Given the description of an element on the screen output the (x, y) to click on. 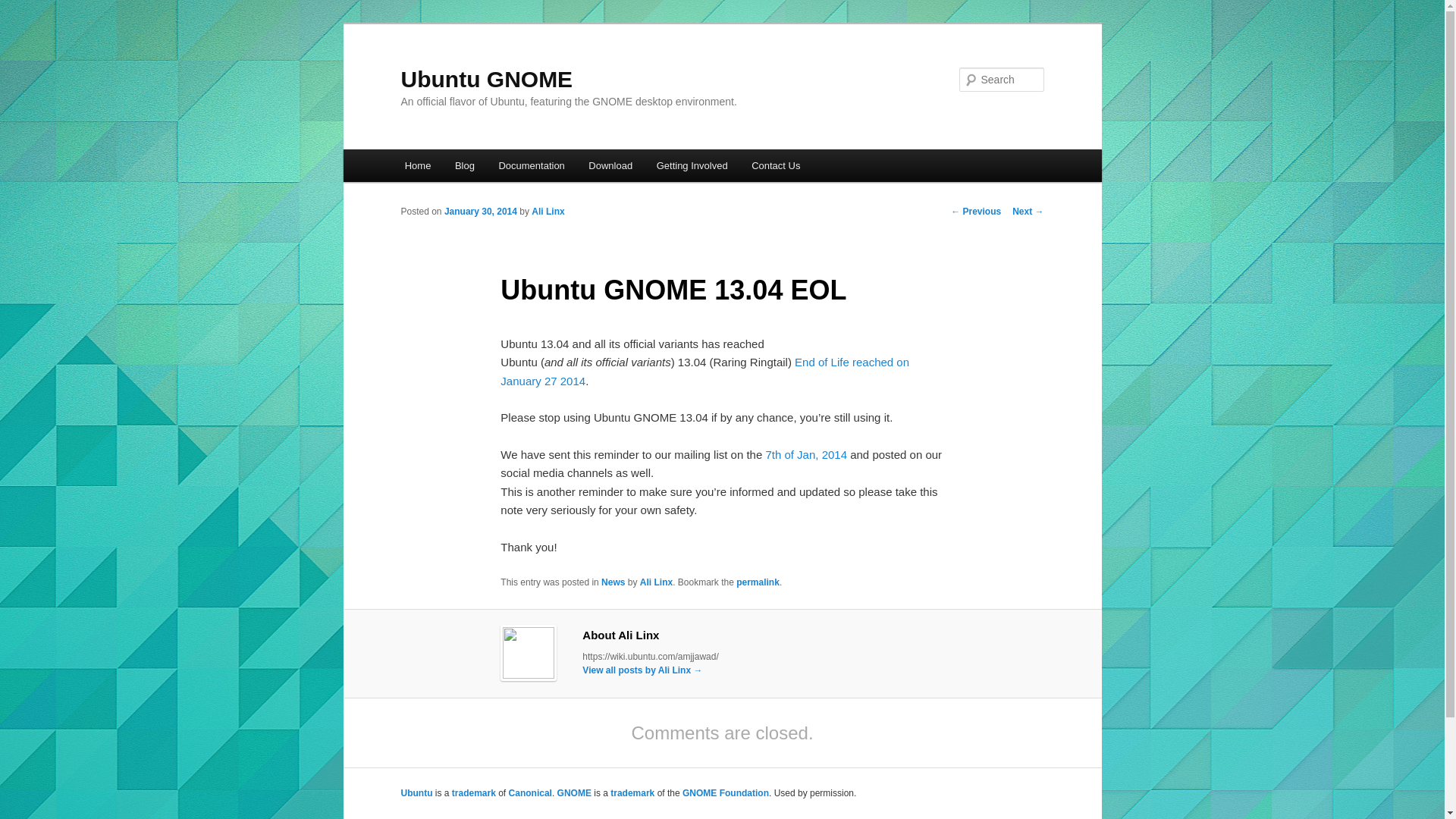
January 30, 2014 (480, 211)
End of Life reached on January 27 2014 (704, 370)
Ali Linx (547, 211)
Download (610, 165)
10:56 pm (480, 211)
Ali Linx (656, 582)
GNOME (574, 792)
trademark (631, 792)
View all posts by Ali Linx (547, 211)
